Given the description of an element on the screen output the (x, y) to click on. 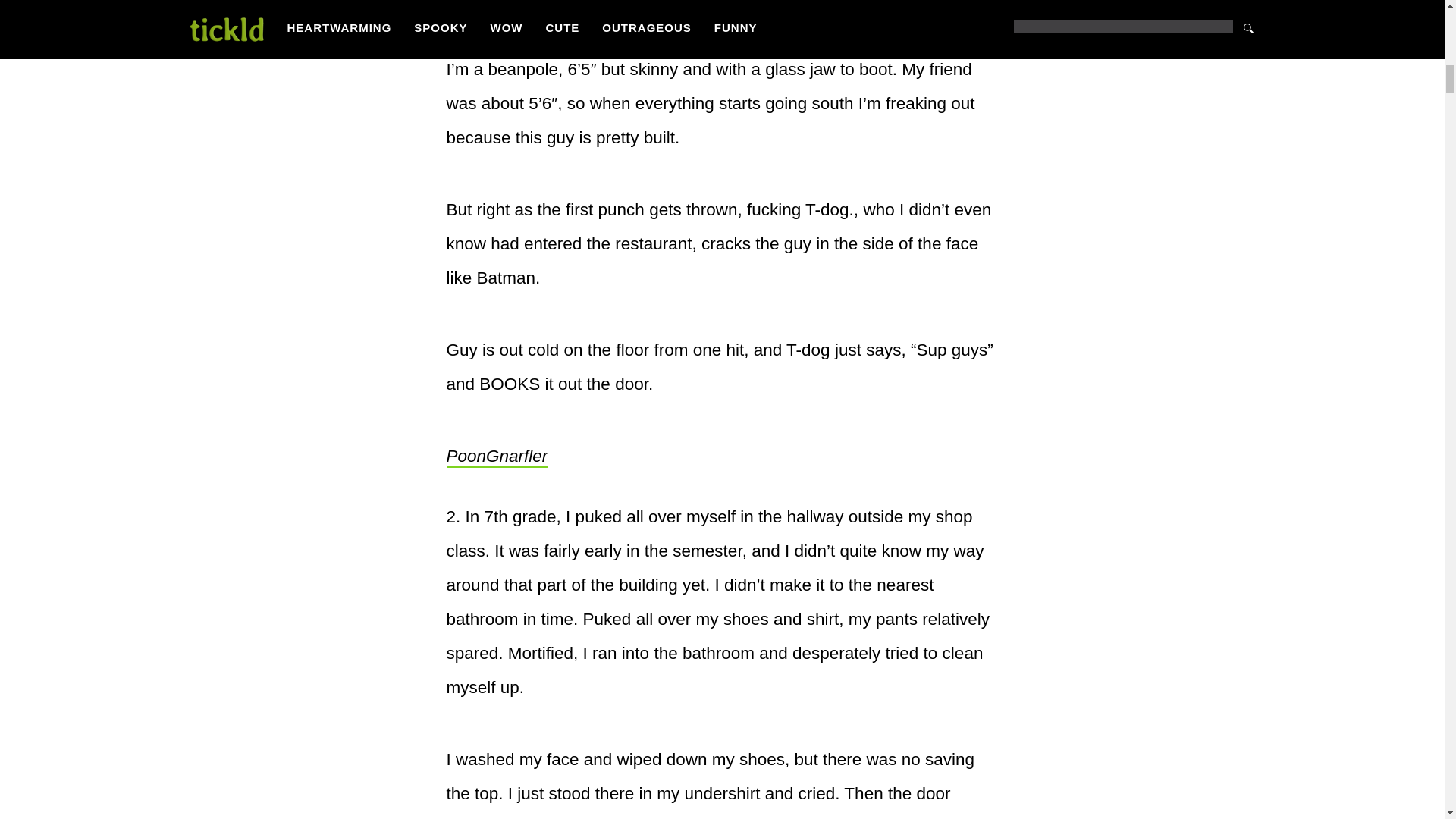
PoonGnarfler (496, 456)
